Given the description of an element on the screen output the (x, y) to click on. 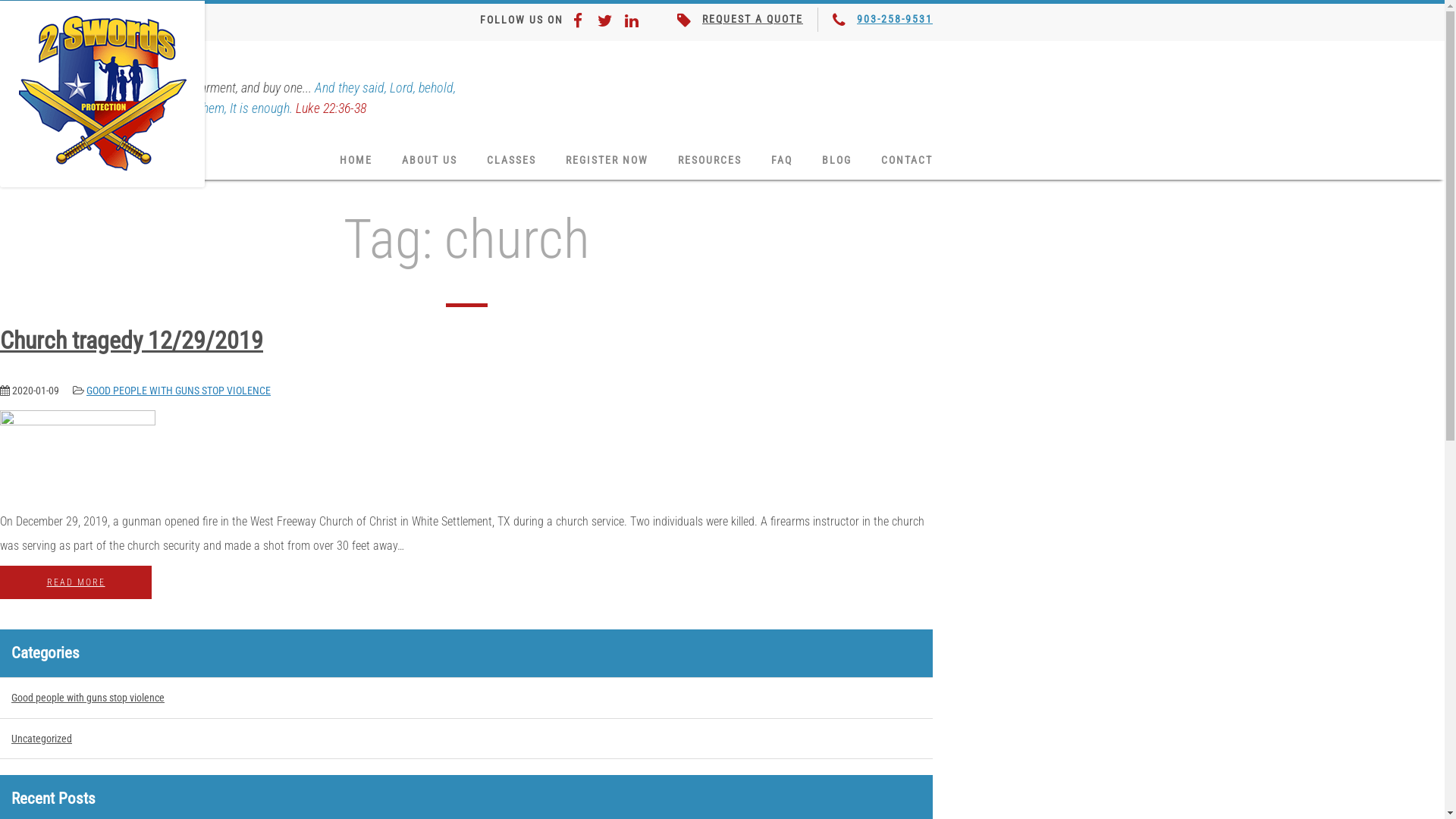
CONTACT Element type: text (906, 160)
CLASSES Element type: text (511, 160)
Church tragedy 12/29/2019 Element type: text (131, 340)
Uncategorized Element type: text (466, 738)
REQUEST A QUOTE Element type: text (752, 18)
Facebook Element type: text (577, 18)
LinkedIn Element type: text (632, 18)
READ MORE Element type: text (75, 582)
HOME Element type: text (355, 160)
GOOD PEOPLE WITH GUNS STOP VIOLENCE Element type: text (178, 390)
RESOURCES Element type: text (709, 160)
Twitter Element type: text (605, 18)
ABOUT US Element type: text (429, 160)
BLOG Element type: text (836, 160)
Skip to content Element type: text (0, 0)
903-258-9531 Element type: text (894, 18)
Good people with guns stop violence Element type: text (466, 697)
FAQ Element type: text (781, 160)
REGISTER NOW Element type: text (606, 160)
